Given the description of an element on the screen output the (x, y) to click on. 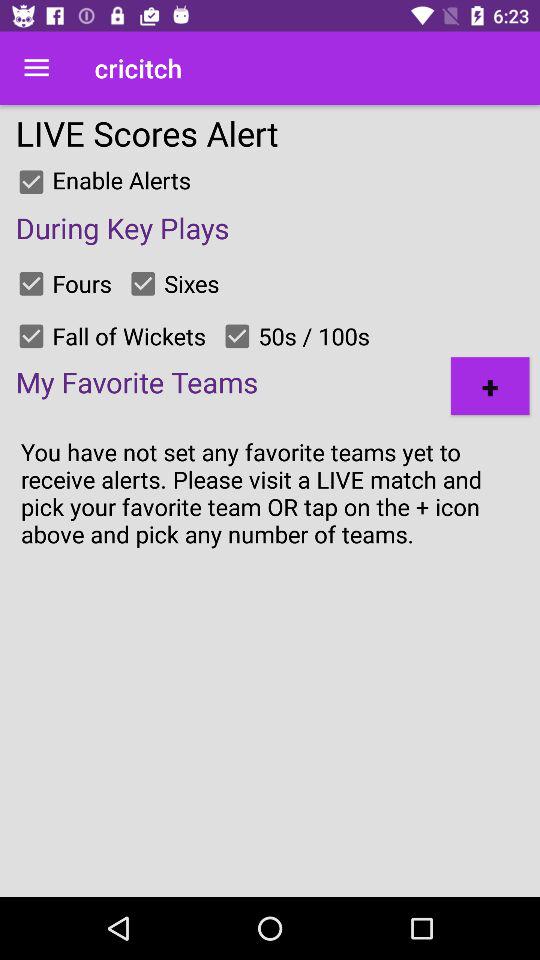
tap item below sixes icon (237, 336)
